Given the description of an element on the screen output the (x, y) to click on. 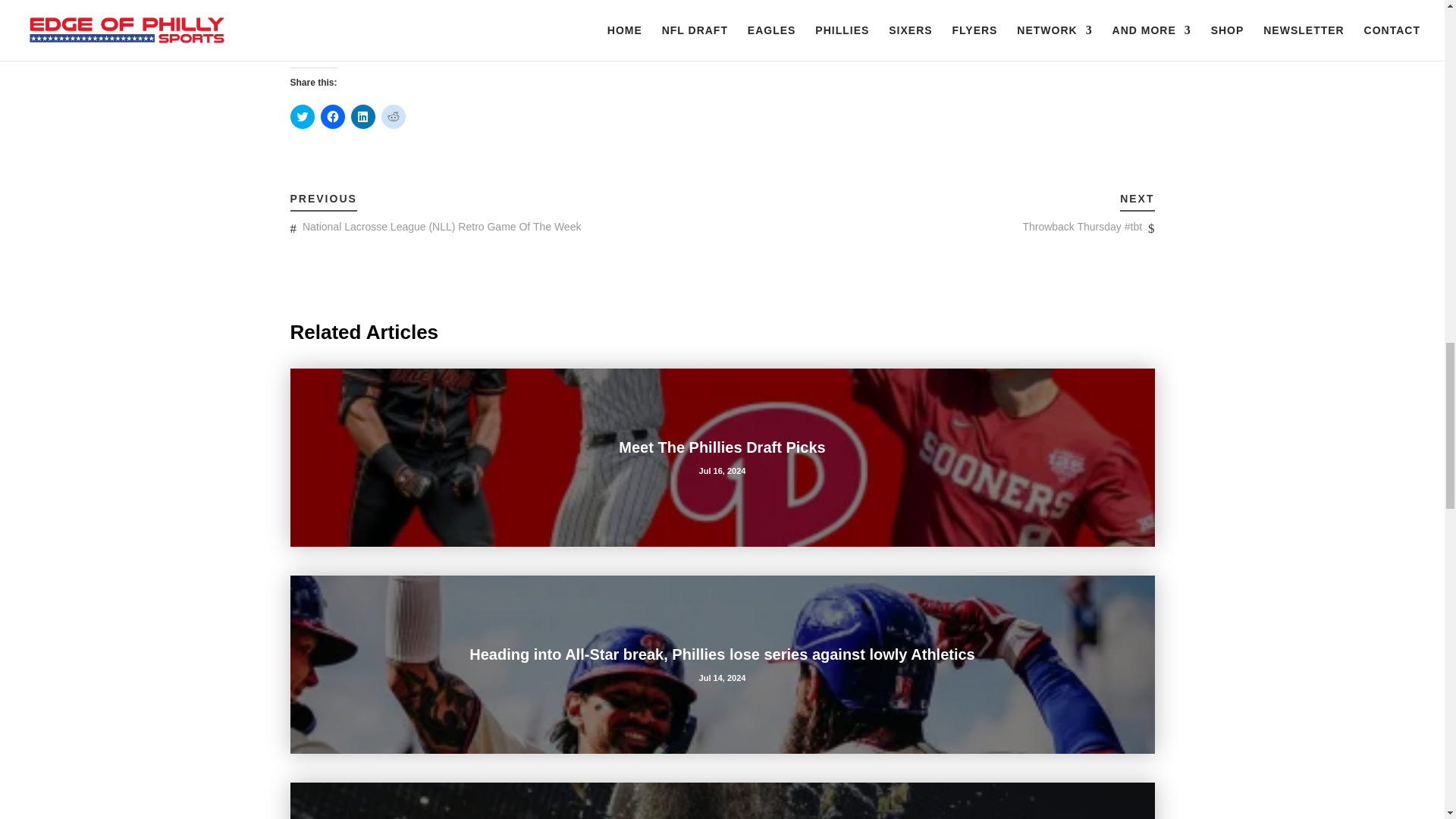
Click to share on Reddit (392, 116)
Click to share on Twitter (301, 116)
Click to share on LinkedIn (362, 116)
Click to share on Facebook (331, 116)
